Given the description of an element on the screen output the (x, y) to click on. 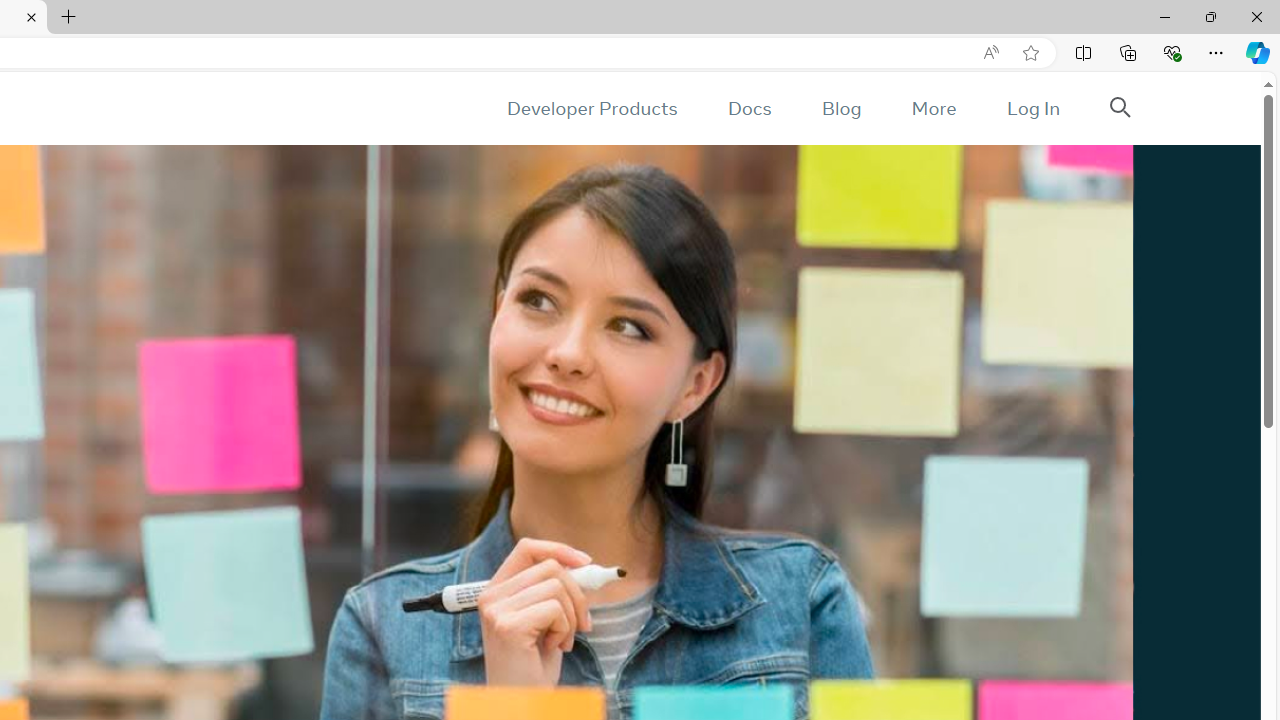
Developer Products (591, 108)
Docs (749, 108)
Blog (841, 108)
Docs (749, 108)
More (933, 108)
